Given the description of an element on the screen output the (x, y) to click on. 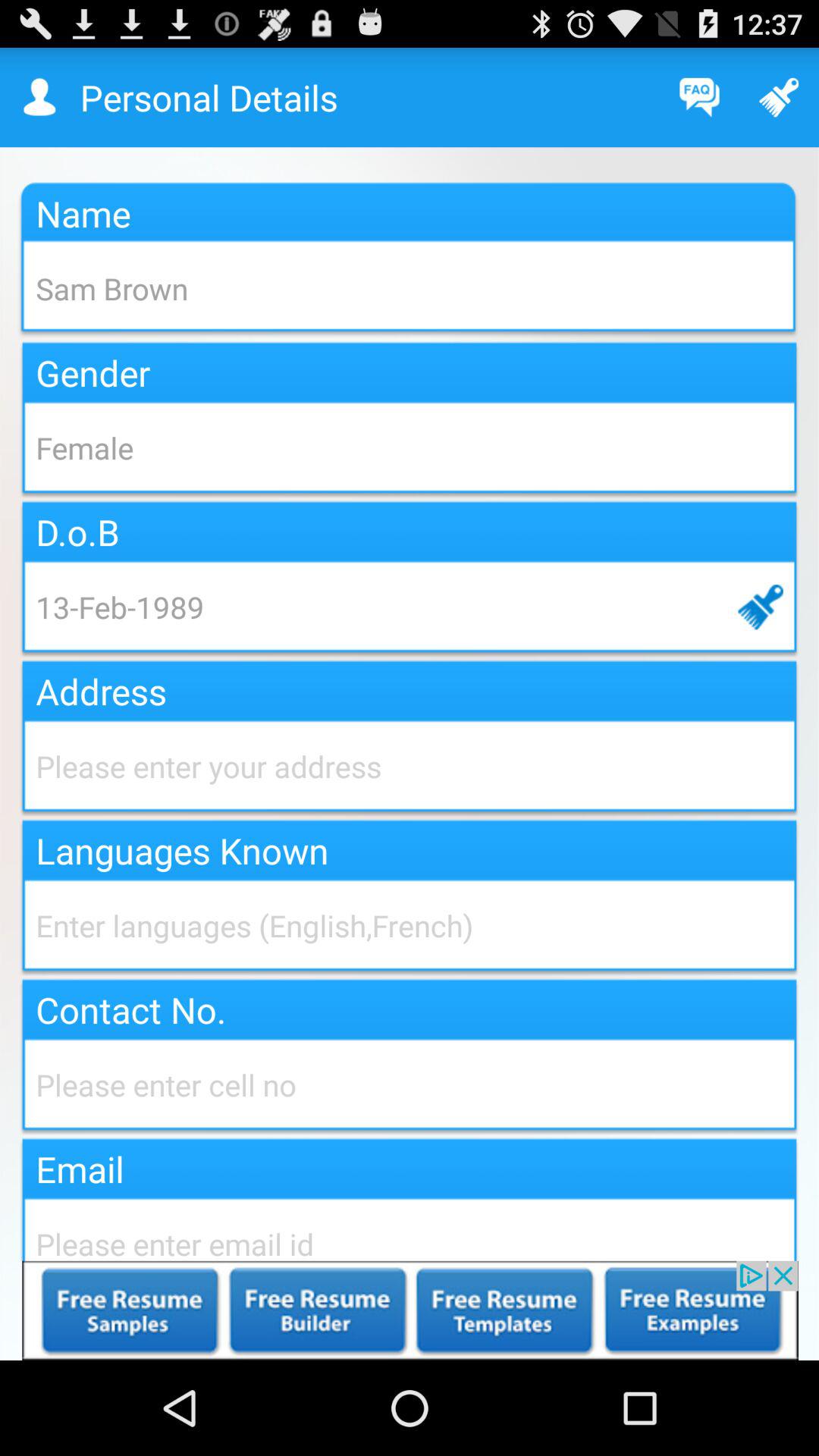
enter phone number (409, 1084)
